Given the description of an element on the screen output the (x, y) to click on. 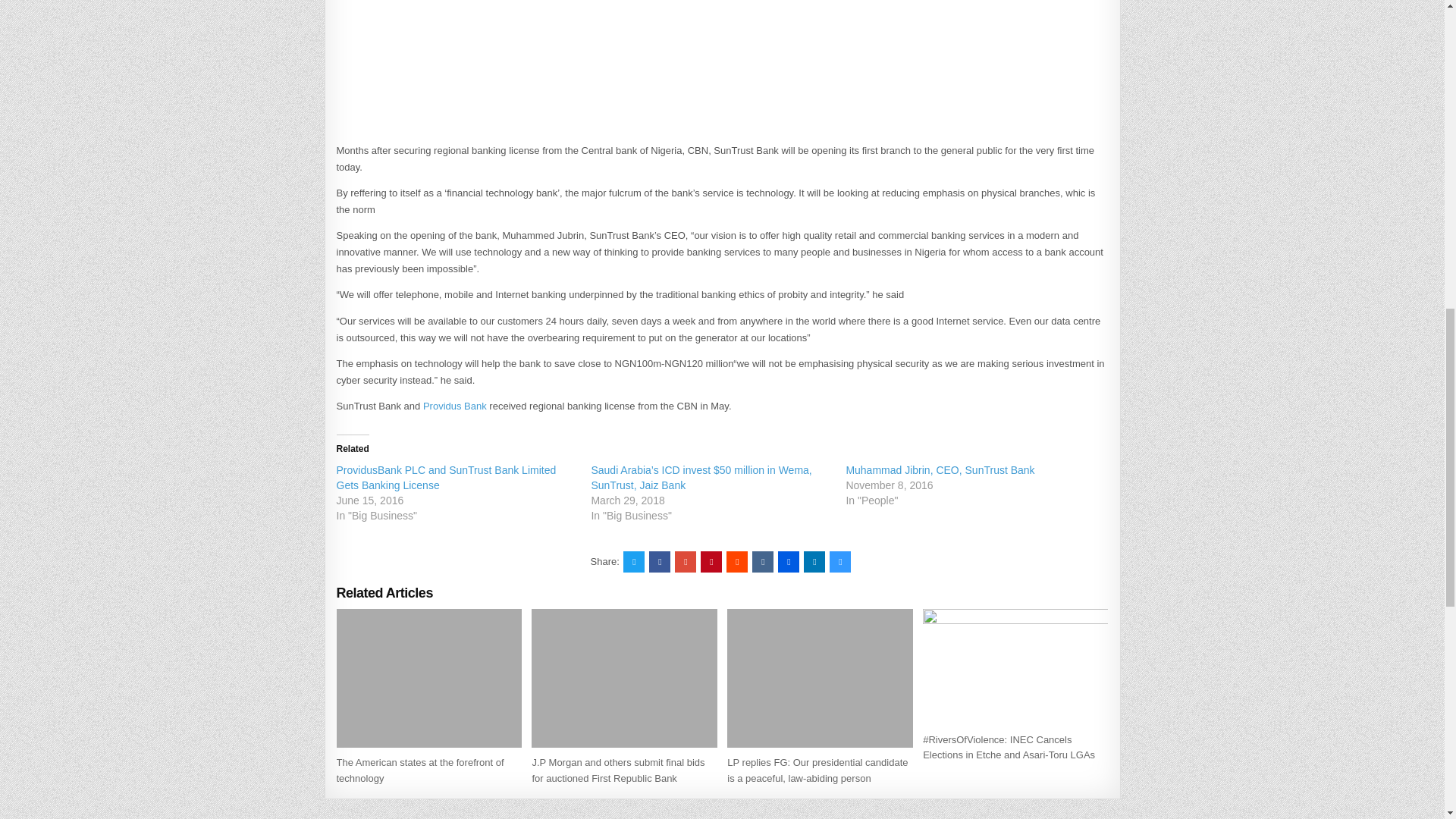
Providus Bank (454, 405)
Muhammad Jibrin, CEO, SunTrust Bank (939, 469)
